Given the description of an element on the screen output the (x, y) to click on. 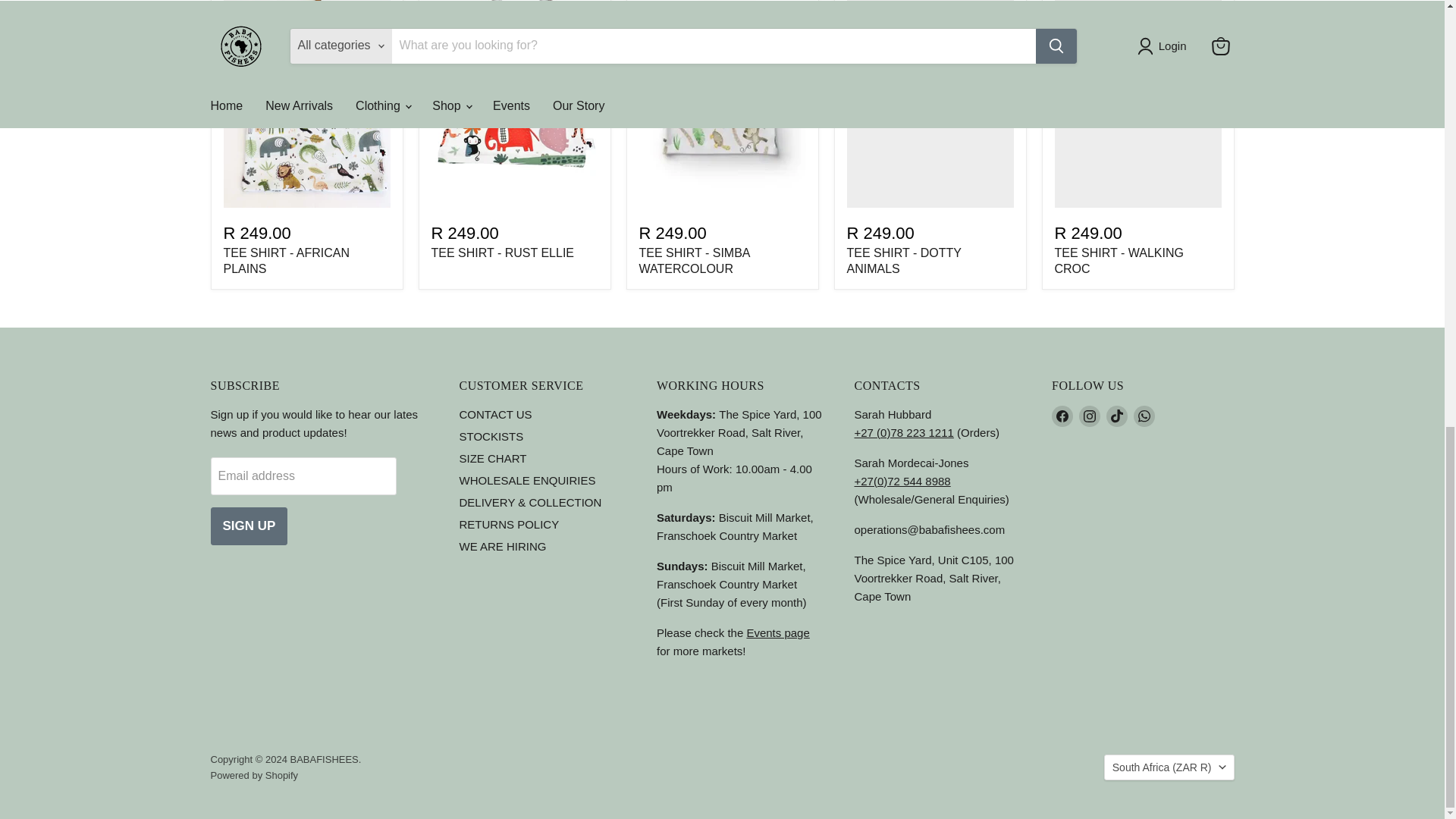
Instagram (1089, 415)
tel:0725448988 (901, 481)
EVENTS CALENDAR (777, 632)
Facebook (1062, 415)
tel:0782231211 (903, 431)
WhatsApp (1144, 415)
TikTok (1116, 415)
